Given the description of an element on the screen output the (x, y) to click on. 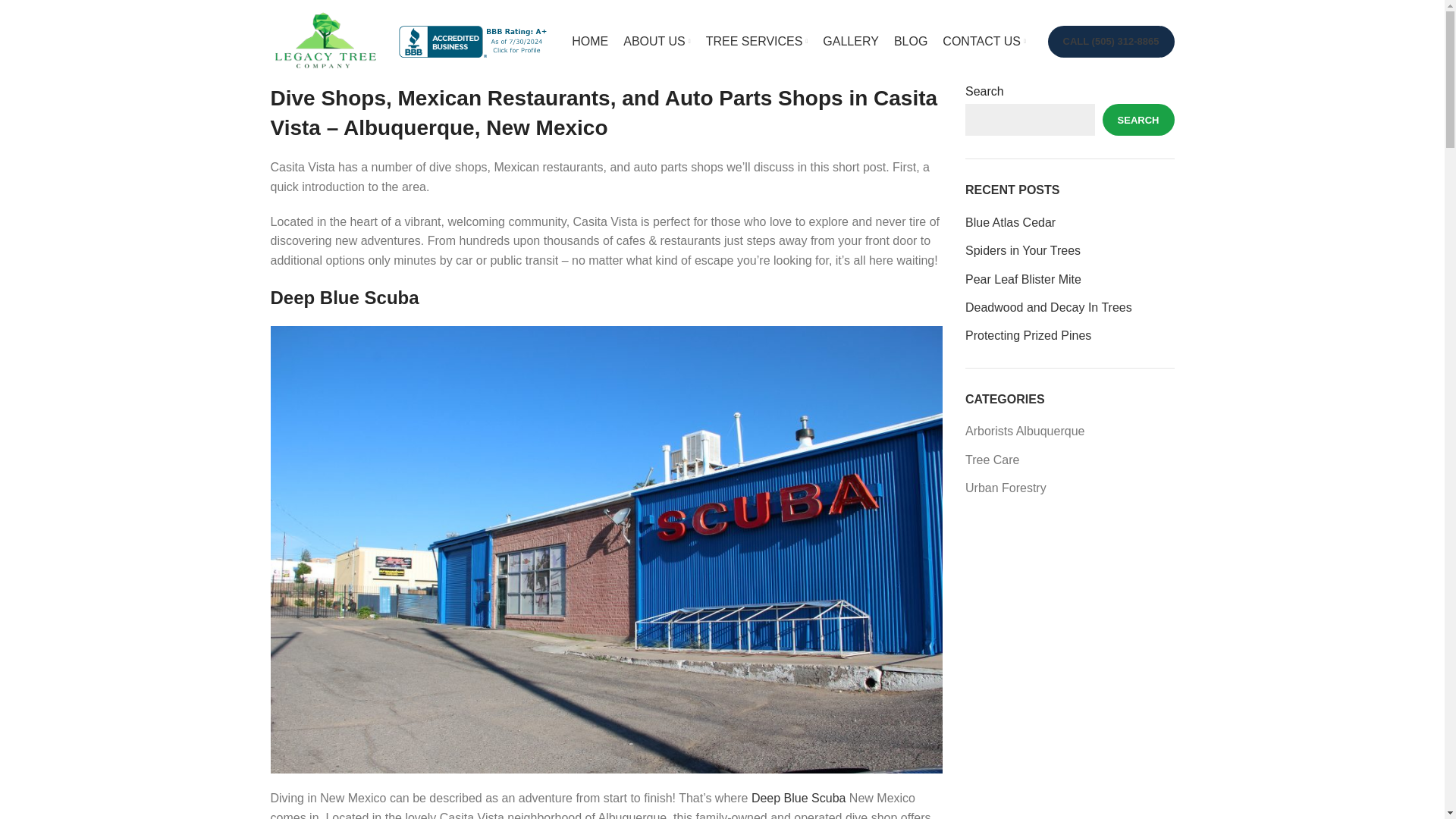
ABOUT US (656, 41)
Protecting Prized Pines (1069, 335)
SEARCH (1138, 119)
Blue Atlas Cedar (1069, 222)
HOME (590, 41)
Pear Leaf Blister Mite (1069, 279)
Spiders in Your Trees (1069, 250)
Deadwood and Decay In Trees (1069, 307)
CONTACT US (983, 41)
TREE SERVICES (757, 41)
Deep Blue Scuba (798, 797)
GALLERY (850, 41)
BLOG (910, 41)
